Given the description of an element on the screen output the (x, y) to click on. 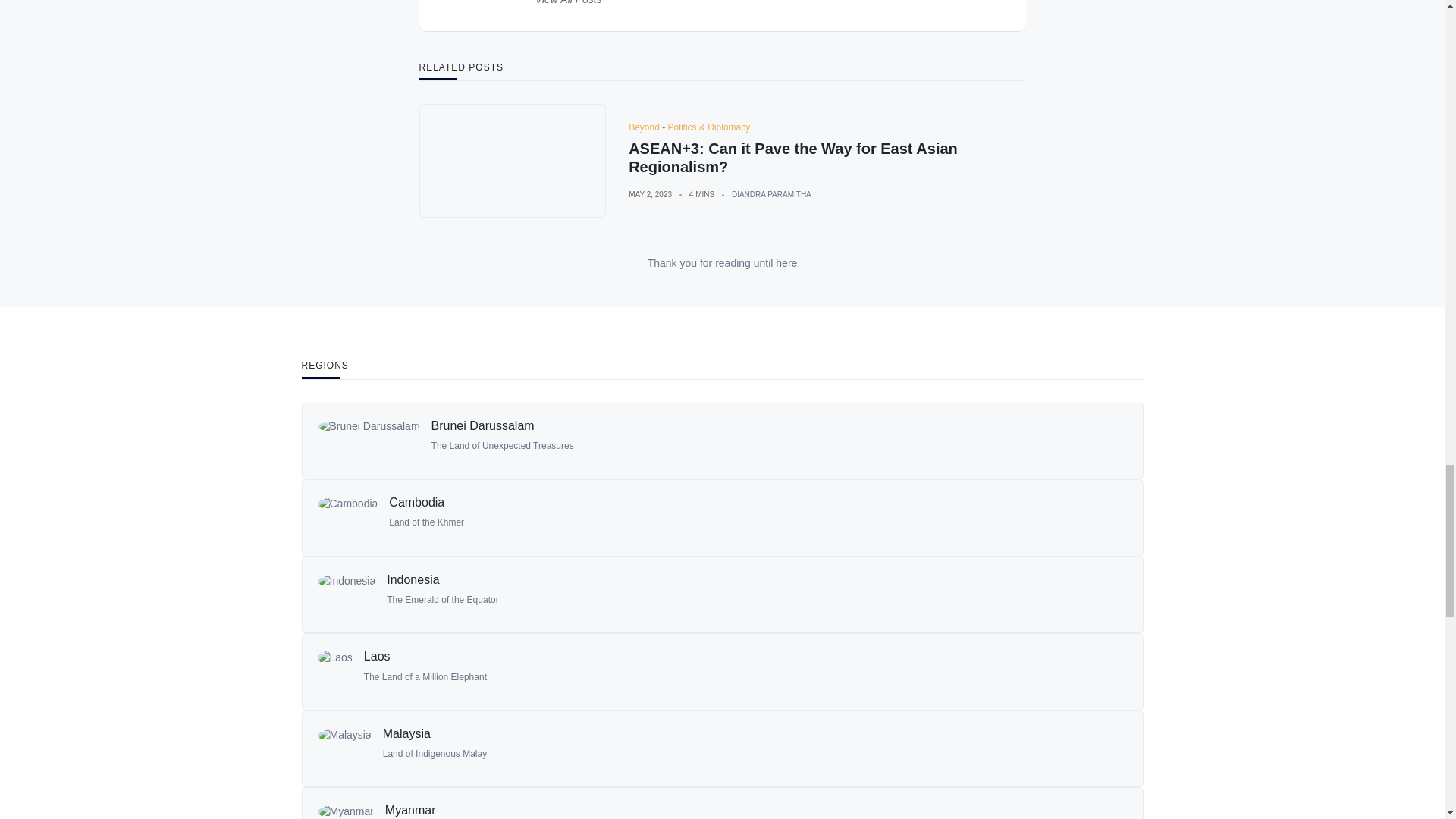
Diandra Paramitha (771, 194)
Cambodia (347, 517)
Brunei Darussalam (368, 441)
Brunei Darussalam (482, 425)
Cambodia (416, 502)
